Given the description of an element on the screen output the (x, y) to click on. 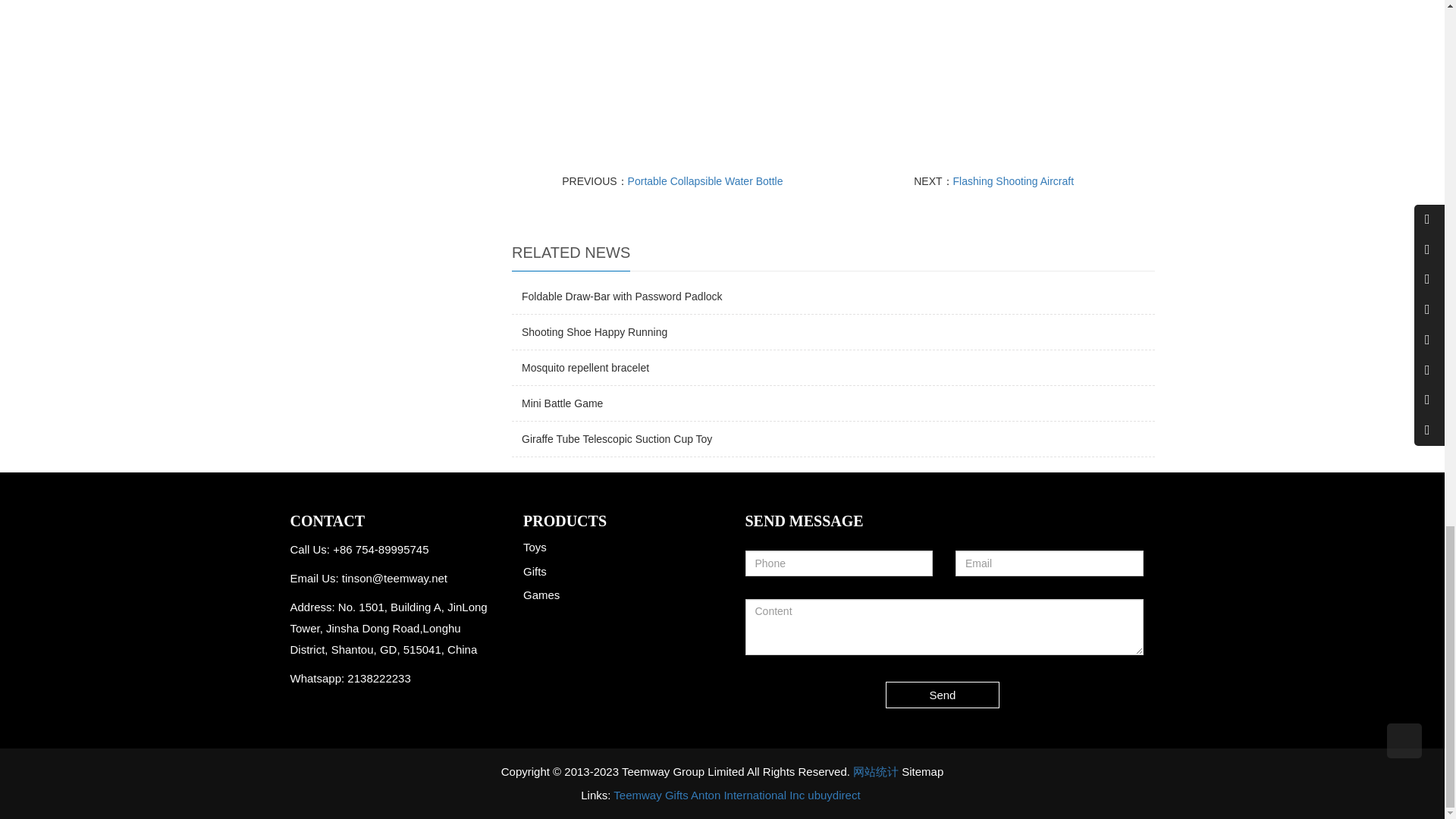
Portable Collapsible Water Bottle (705, 181)
Mini Battle Game (561, 403)
Giraffe Tube Telescopic Suction Cup Toy (616, 439)
Foldable Draw-Bar with Password Padlock (621, 296)
Mosquito repellent bracelet (585, 367)
Games (540, 594)
Toys (534, 546)
Shooting Shoe Happy Running (593, 331)
Flashing Shooting Aircraft (1013, 181)
Gifts (534, 571)
